Given the description of an element on the screen output the (x, y) to click on. 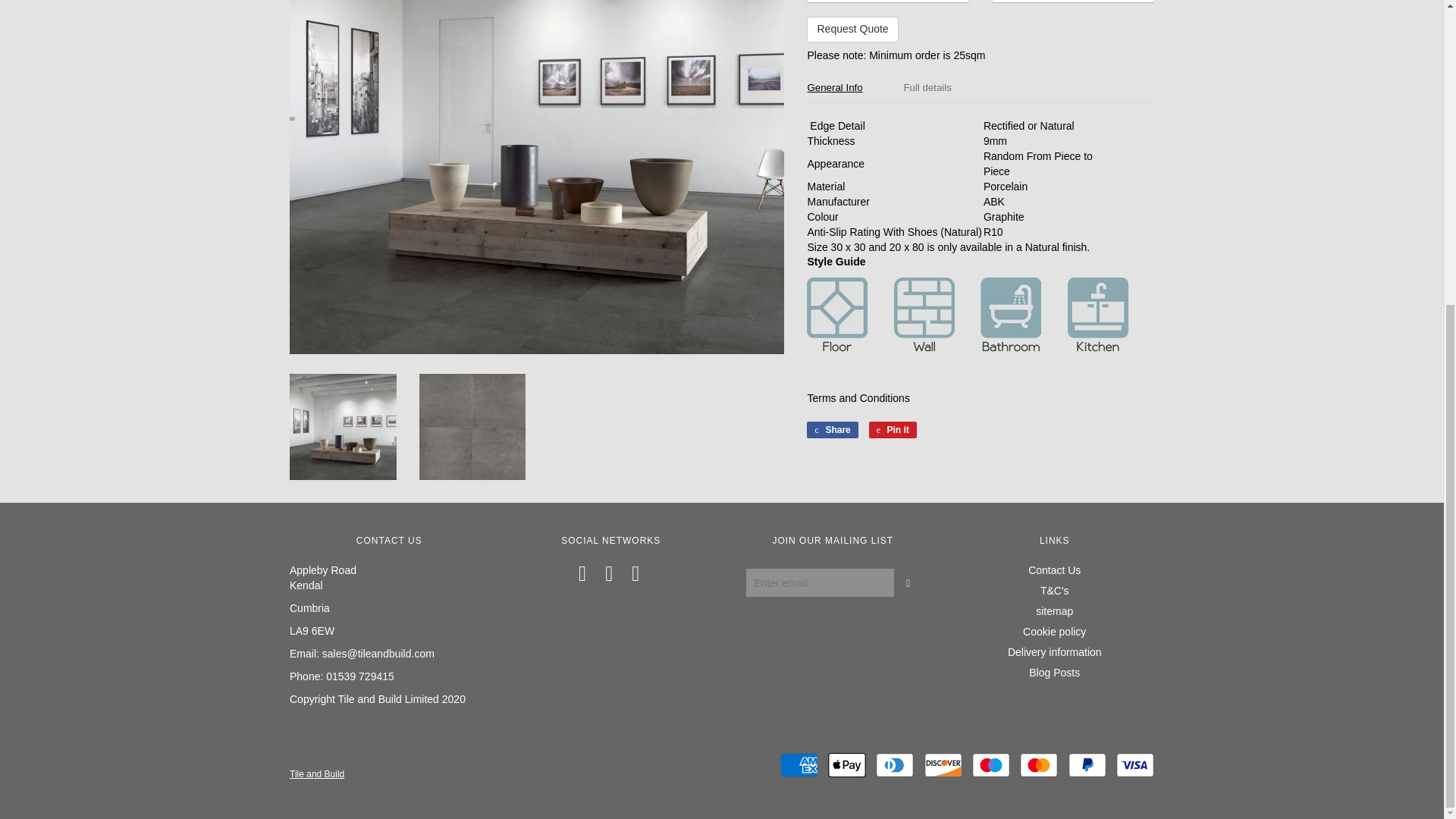
30 x 30 (887, 1)
Natural (1072, 1)
